Given the description of an element on the screen output the (x, y) to click on. 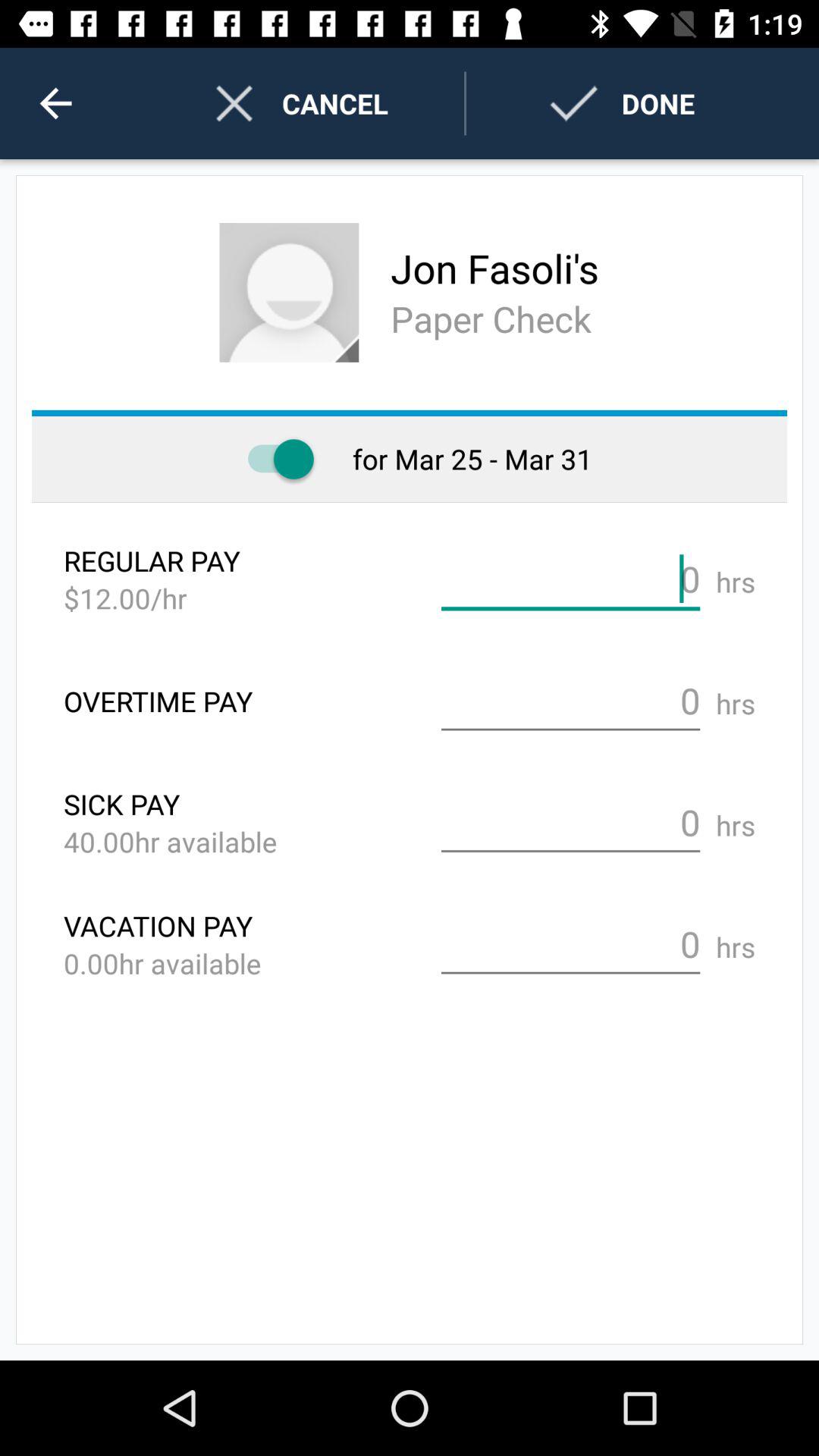
press item below the cancel icon (288, 292)
